Given the description of an element on the screen output the (x, y) to click on. 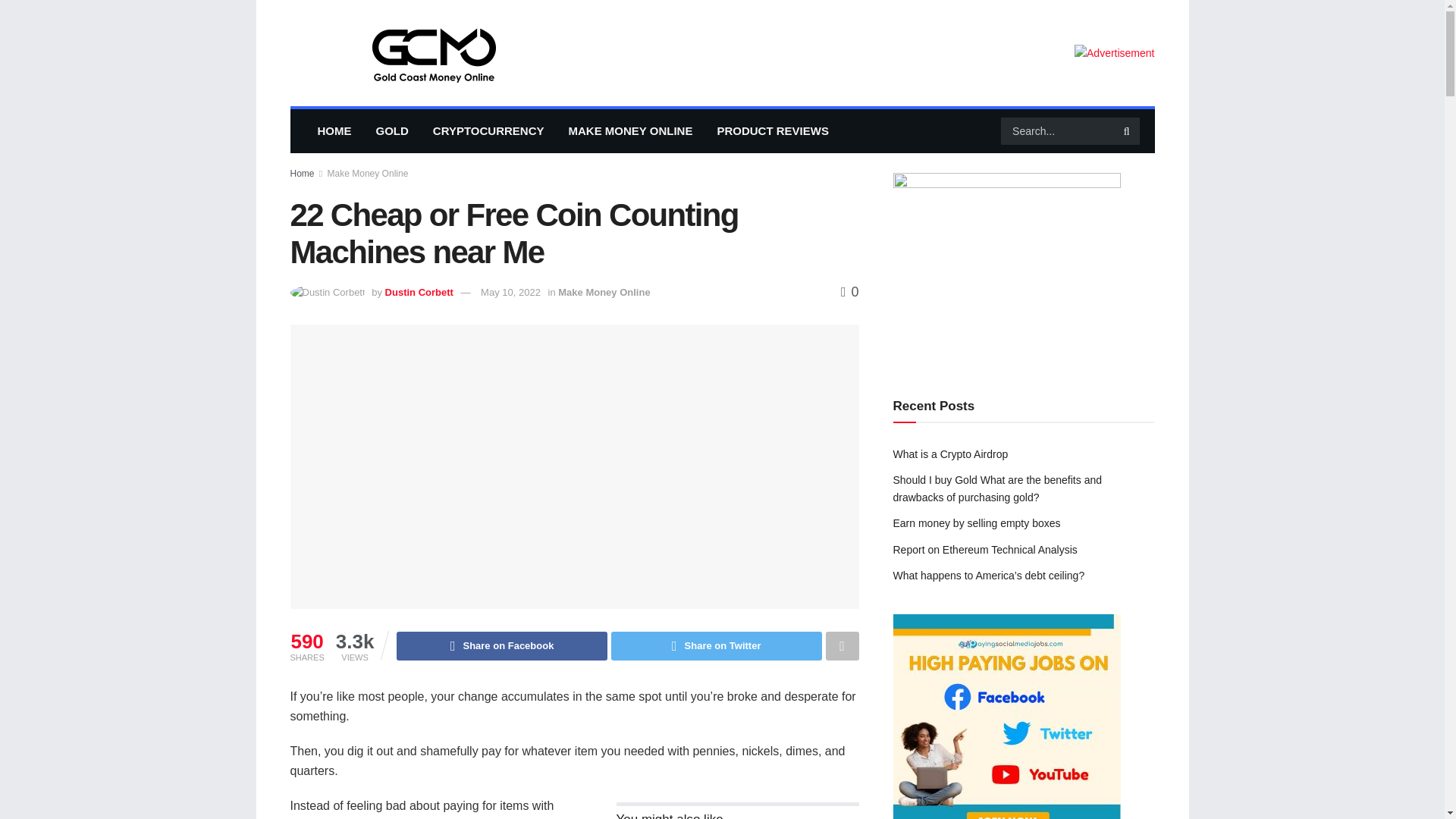
GOLD (392, 130)
Share on Facebook (501, 645)
MAKE MONEY ONLINE (630, 130)
May 10, 2022 (510, 292)
CRYPTOCURRENCY (488, 130)
Dustin Corbett (418, 292)
Home (301, 173)
Make Money Online (603, 292)
Share on Twitter (716, 645)
Make Money Online (368, 173)
